Given the description of an element on the screen output the (x, y) to click on. 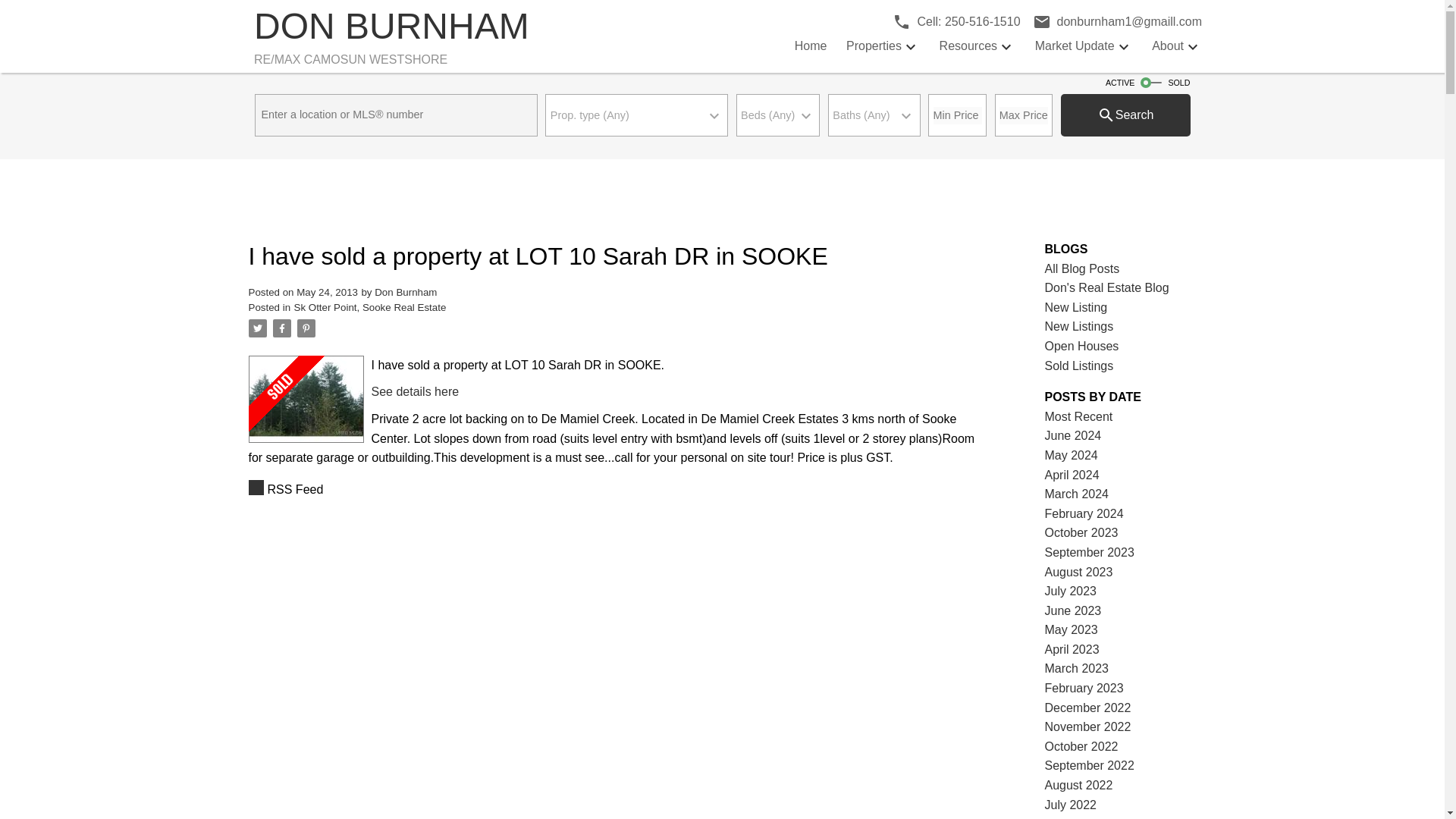
June 2024 (953, 21)
Sold Listings (1073, 435)
Don's Real Estate Blog (1079, 365)
Search (1107, 287)
All Blog Posts (1126, 115)
See details here (1082, 268)
May 2024 (415, 391)
April 2024 (1071, 454)
New Listings (1072, 474)
March 2024 (1079, 326)
Home (1077, 493)
Sk Otter Point, Sooke Real Estate (810, 46)
RSS (370, 307)
Open Houses (616, 489)
